Given the description of an element on the screen output the (x, y) to click on. 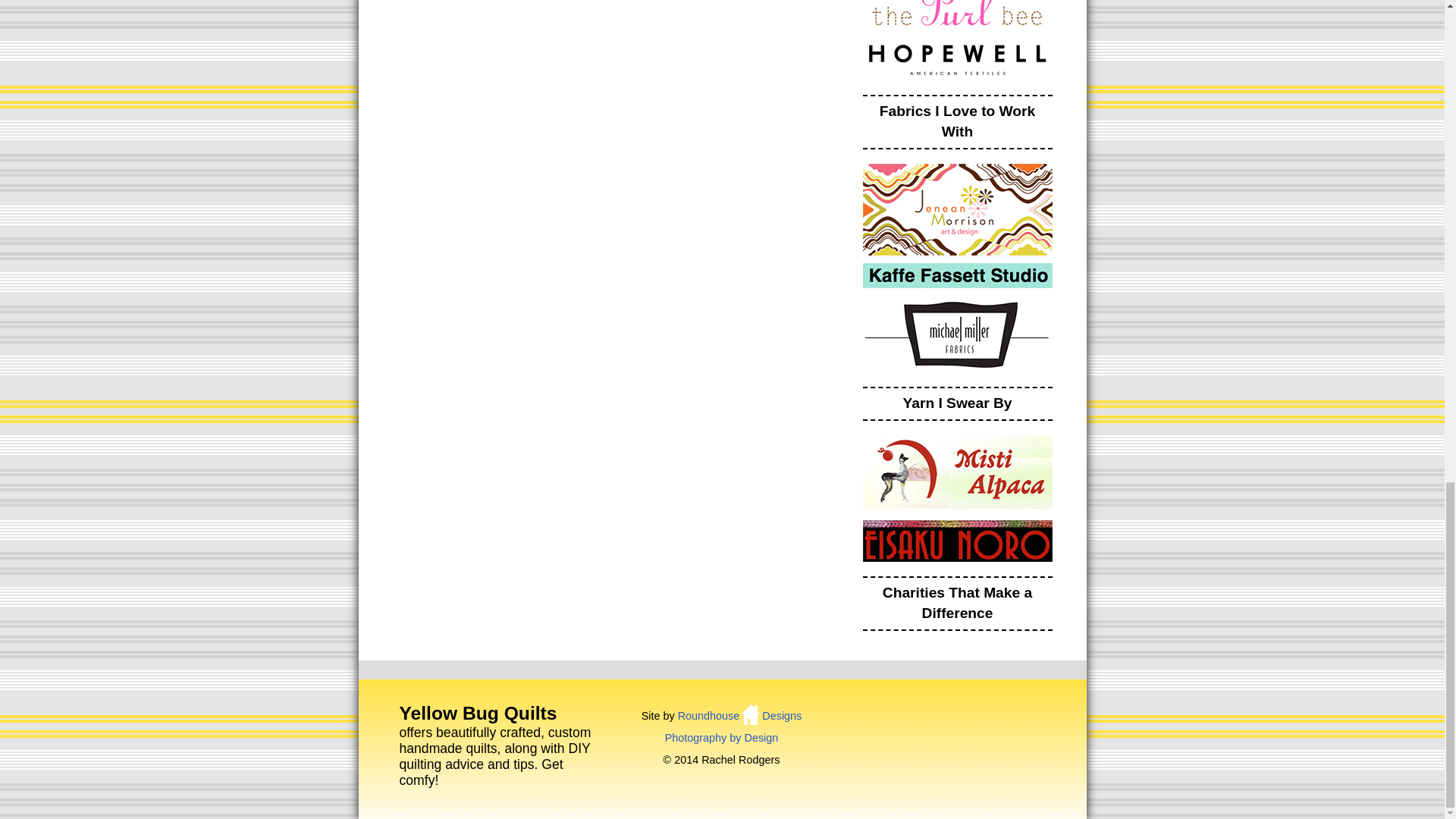
Photography by Design (721, 737)
RoundhouseDesigns (740, 715)
